Given the description of an element on the screen output the (x, y) to click on. 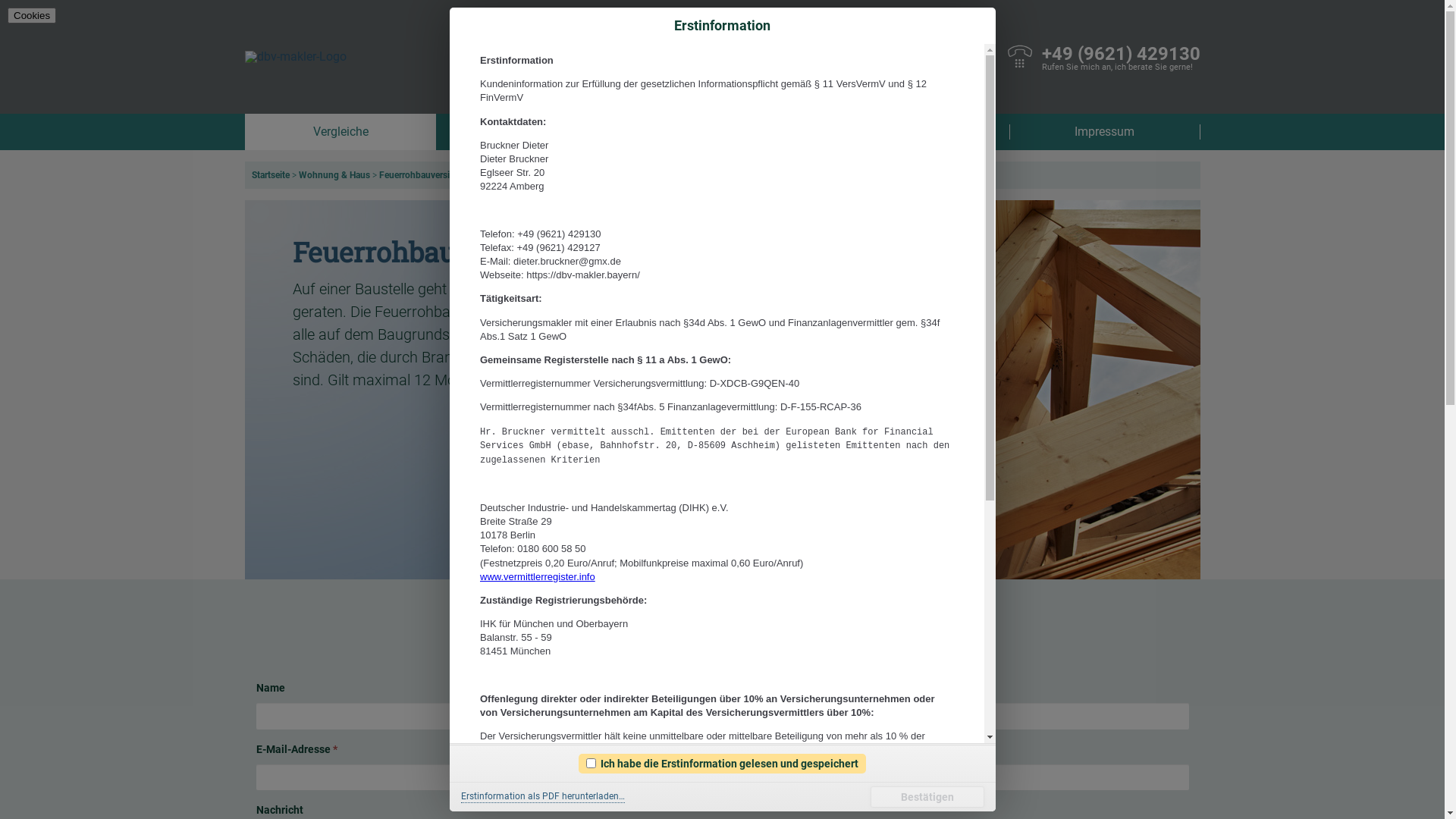
Kontakt Element type: text (912, 131)
Cookies Element type: text (31, 15)
Impressum Element type: text (1103, 131)
News Element type: text (530, 131)
Vergleiche Element type: text (339, 131)
Startseite Element type: text (270, 174)
Wohnung & Haus Element type: text (334, 174)
